Given the description of an element on the screen output the (x, y) to click on. 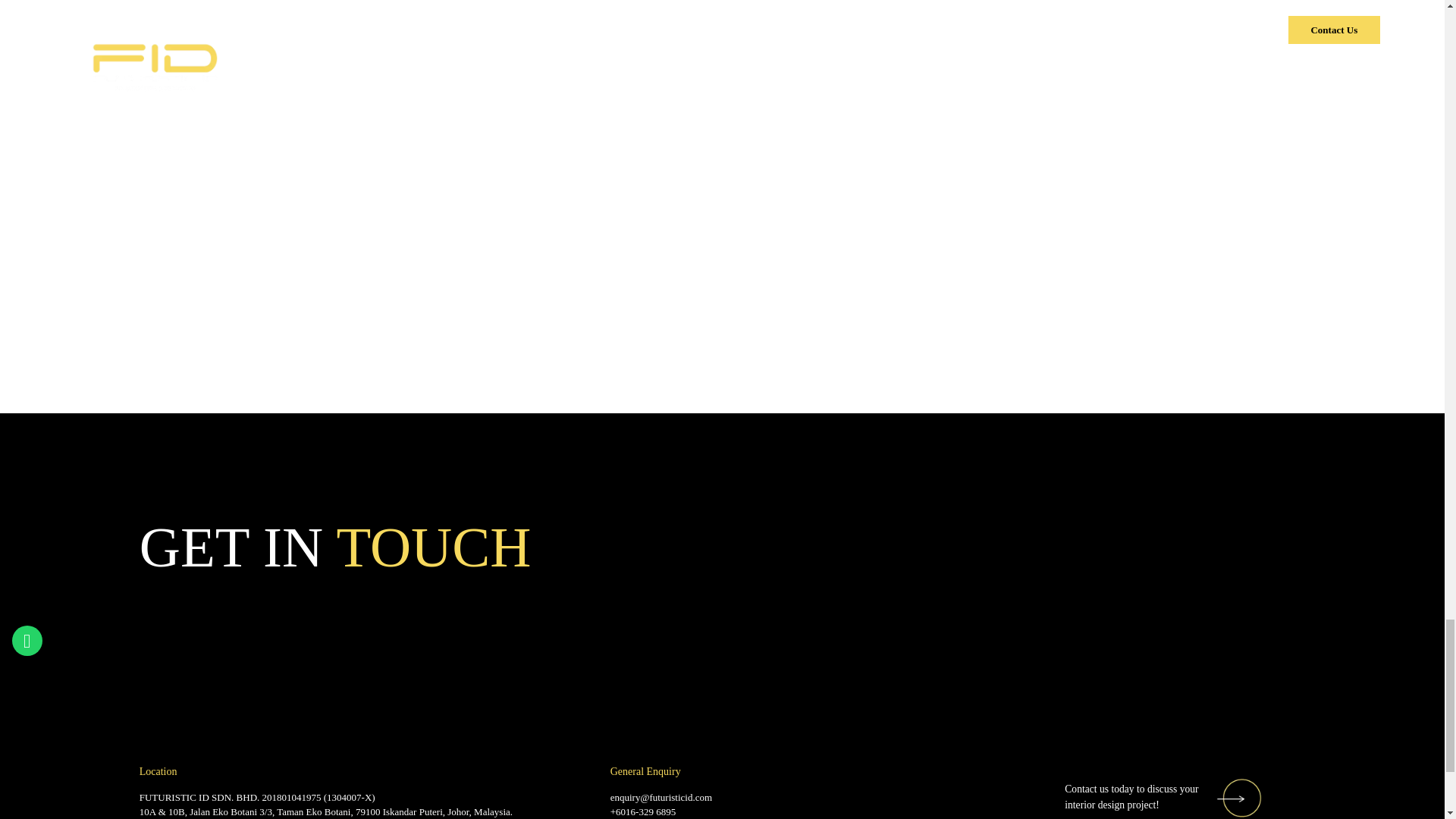
Contact us today to discuss your interior design project! (1163, 797)
